Given the description of an element on the screen output the (x, y) to click on. 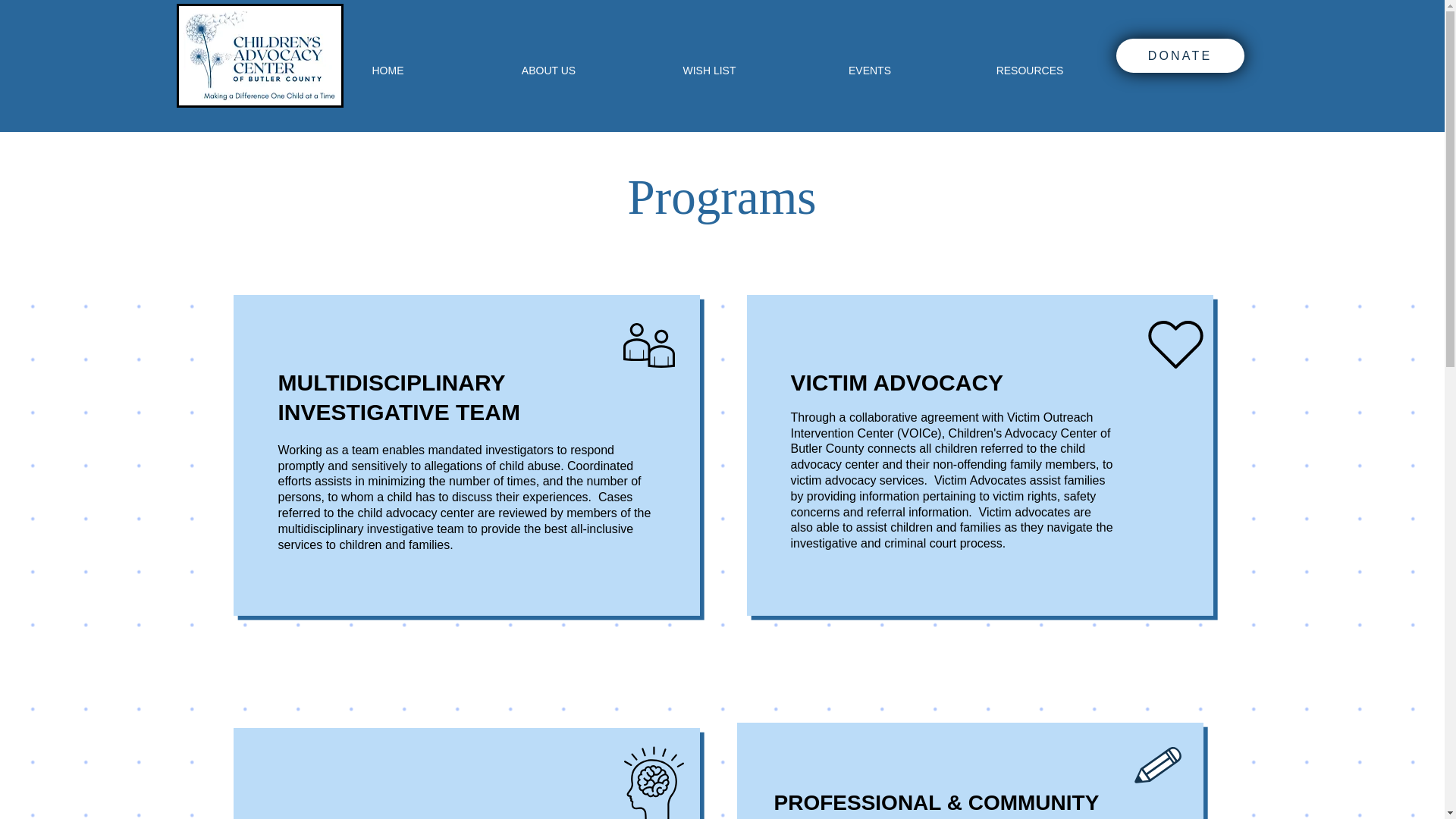
DONATE (1180, 55)
ABOUT US (548, 70)
RESOURCES (1029, 70)
EVENTS (870, 70)
HOME (387, 70)
WISH LIST (709, 70)
